Given the description of an element on the screen output the (x, y) to click on. 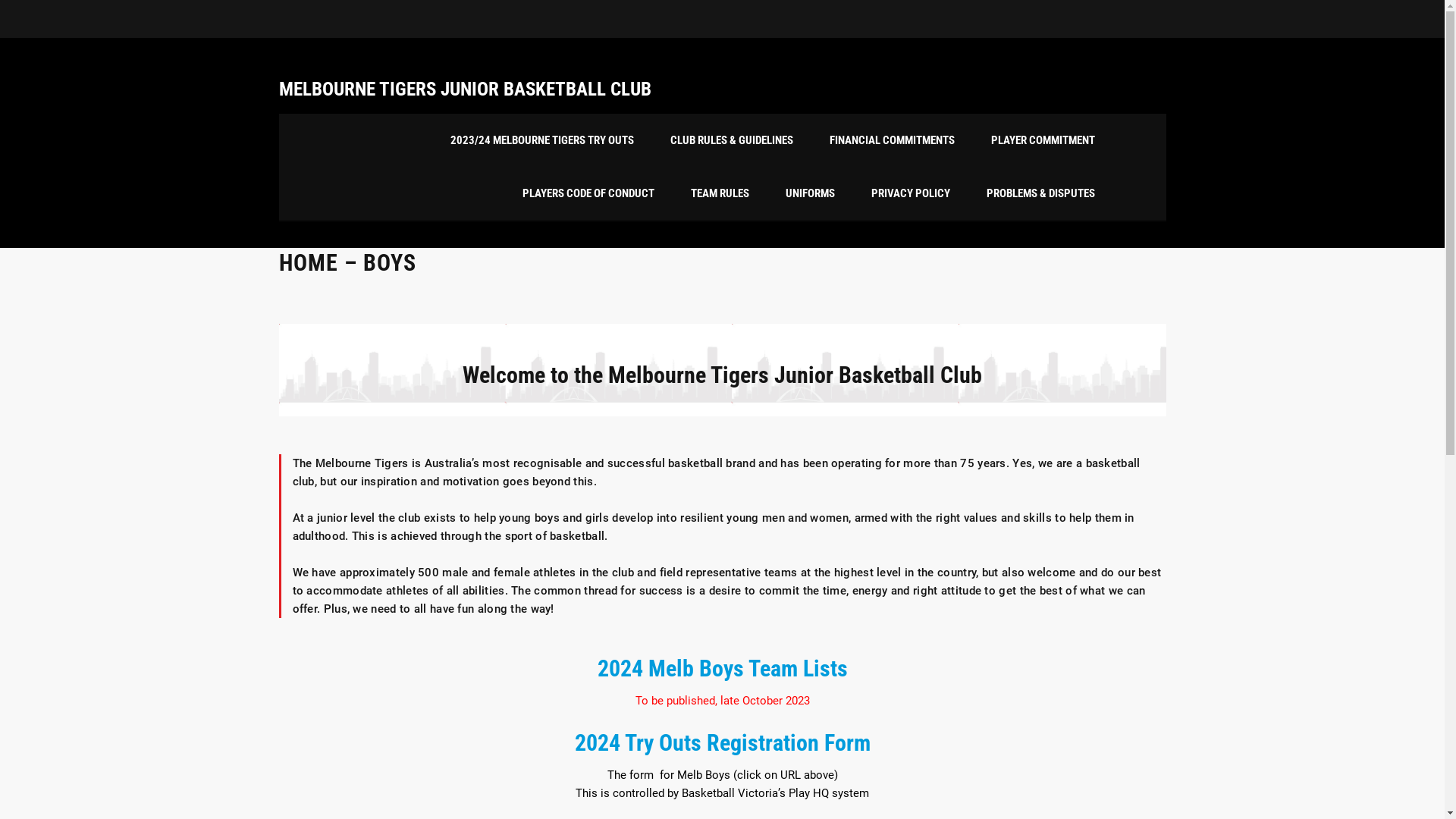
TEAM RULES Element type: text (718, 192)
PRIVACY POLICY Element type: text (909, 192)
CLUB RULES & GUIDELINES Element type: text (731, 139)
MELBOURNE TIGERS JUNIOR BASKETBALL CLUB Element type: text (465, 88)
PLAYERS CODE OF CONDUCT Element type: text (587, 192)
2024 Melb Boys Team Lists Element type: text (722, 668)
PLAYER COMMITMENT Element type: text (1042, 139)
FINANCIAL COMMITMENTS Element type: text (891, 139)
2024 Try Outs Registration Form Element type: text (722, 742)
2023/24 MELBOURNE TIGERS TRY OUTS Element type: text (542, 139)
UNIFORMS Element type: text (810, 192)
PROBLEMS & DISPUTES Element type: text (1039, 192)
